Given the description of an element on the screen output the (x, y) to click on. 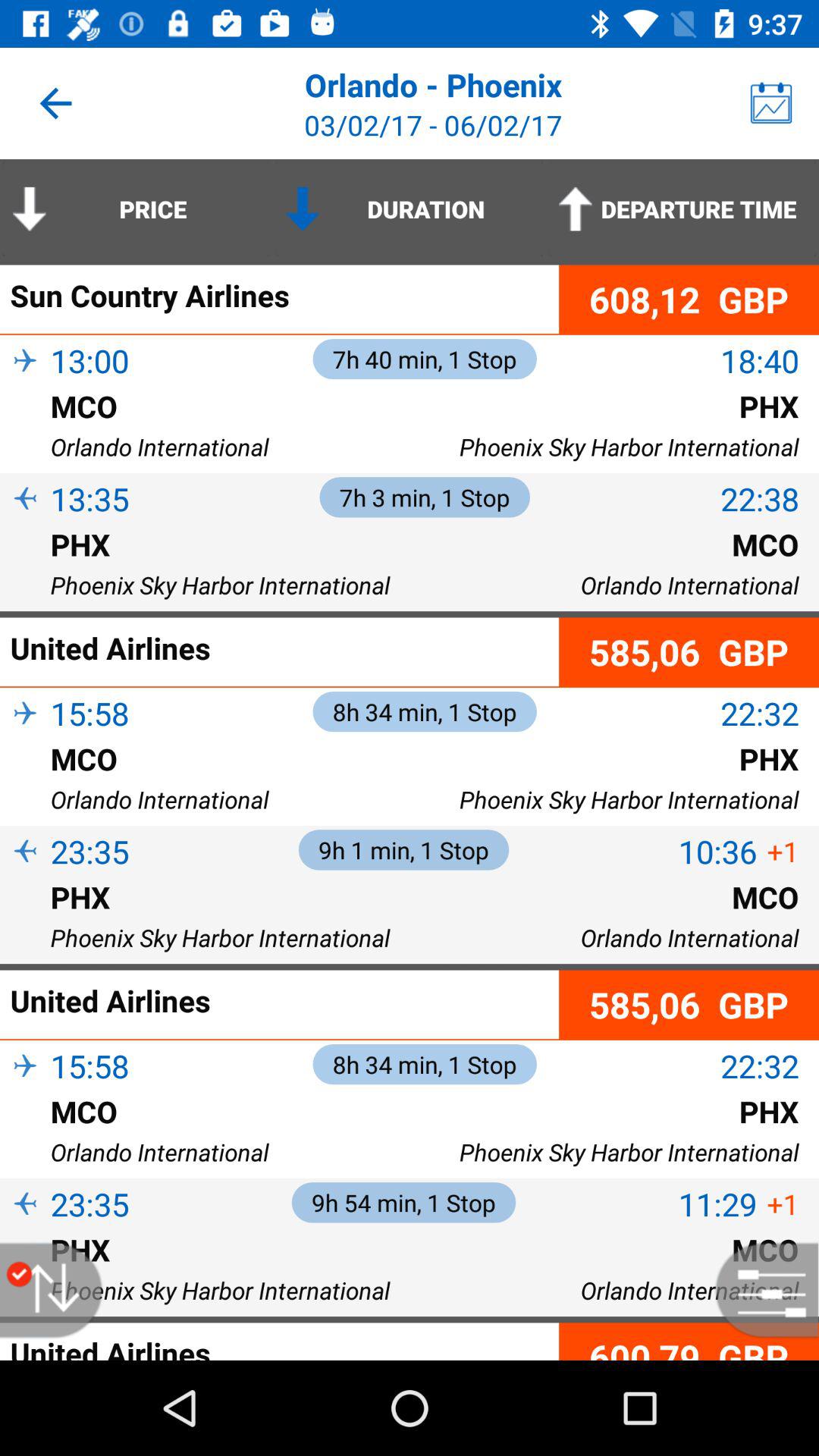
alter settings (759, 1290)
